Given the description of an element on the screen output the (x, y) to click on. 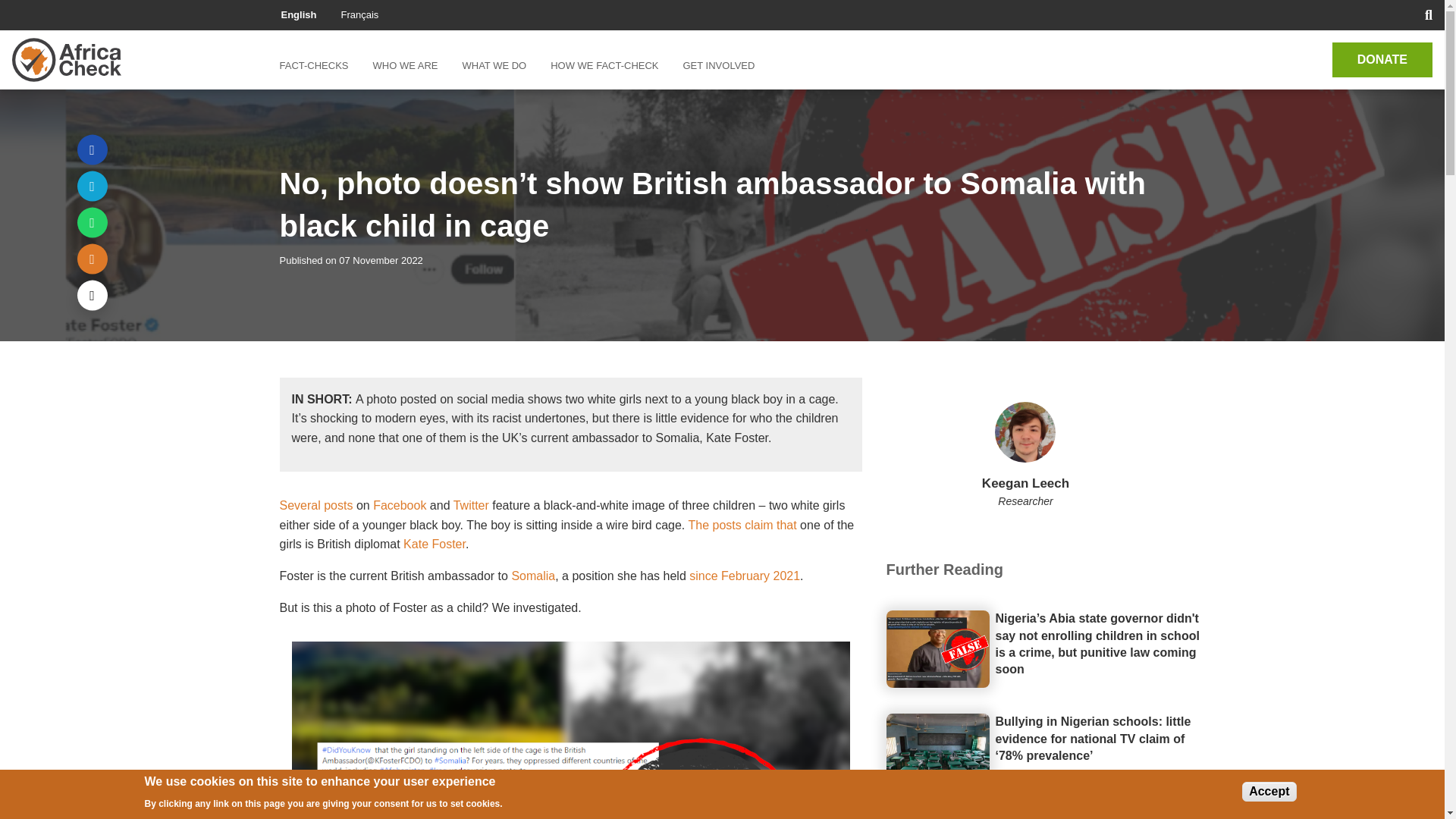
English (298, 14)
HOW WE FACT-CHECK (603, 65)
DONATE (1382, 59)
WHO WE ARE (405, 65)
WHAT WE DO (493, 65)
FACT-CHECKS (319, 65)
GET INVOLVED (718, 65)
